Given the description of an element on the screen output the (x, y) to click on. 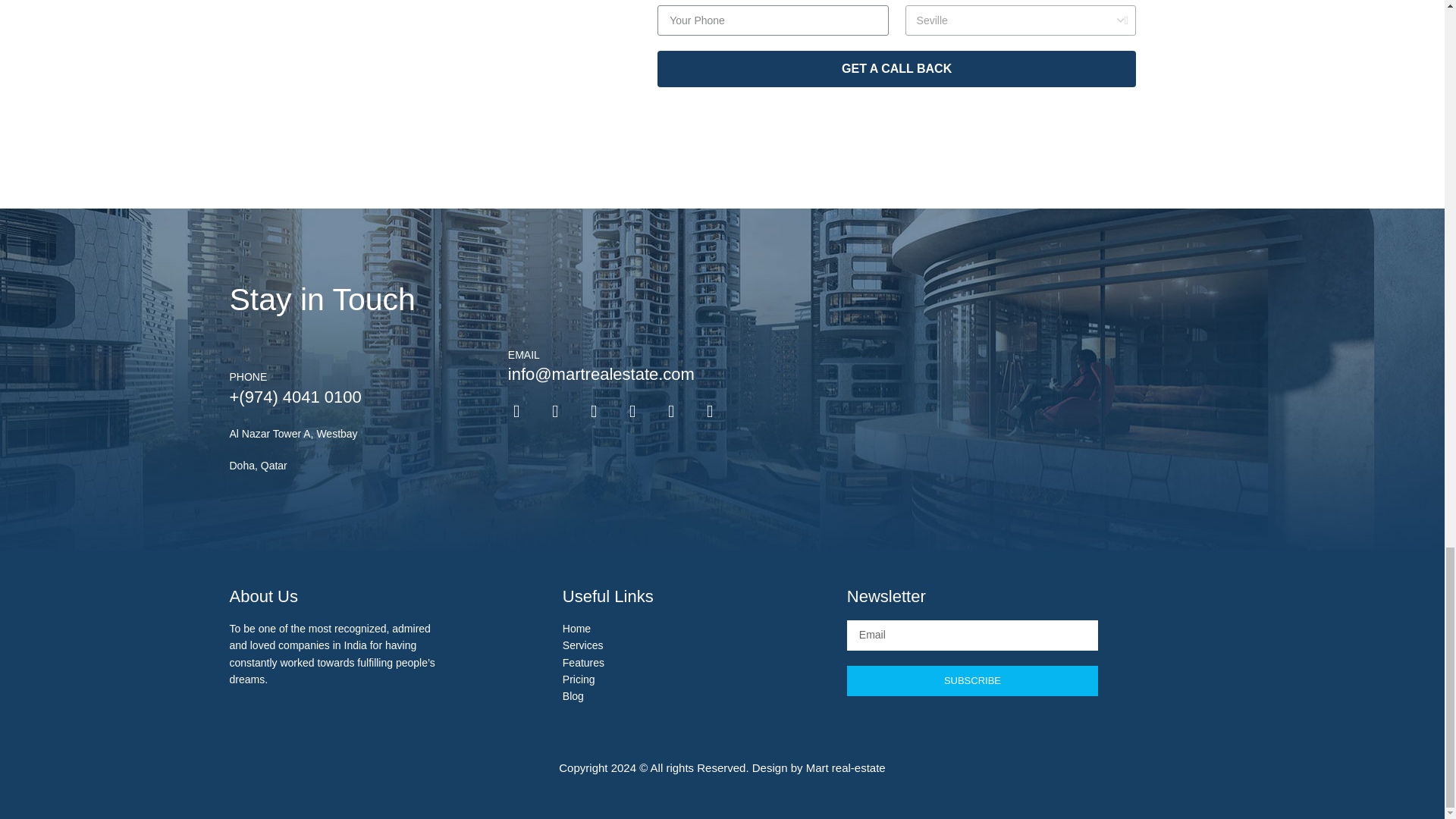
SUBSCRIBE (972, 680)
GET A CALL BACK (896, 68)
